Given the description of an element on the screen output the (x, y) to click on. 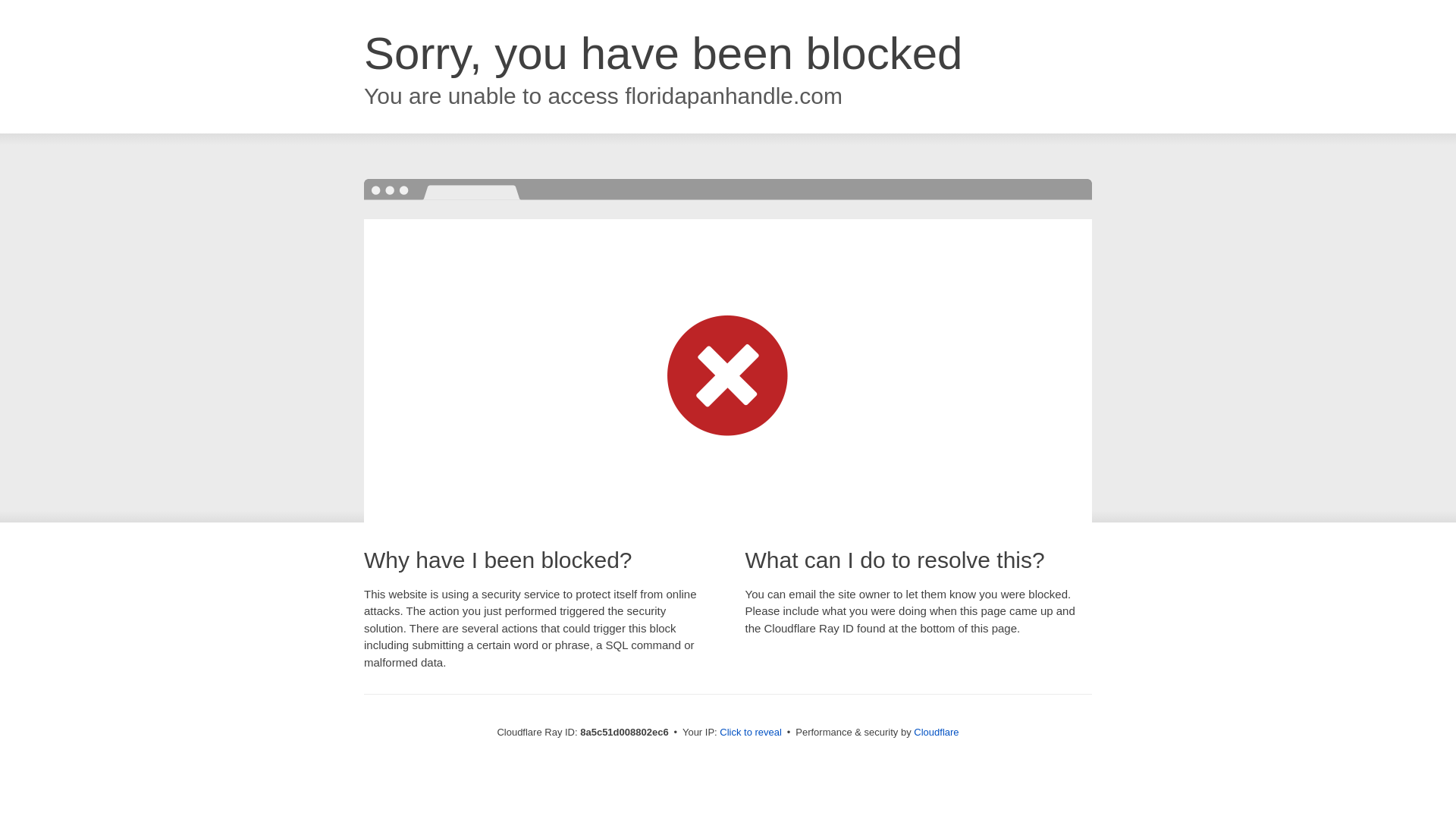
Click to reveal (750, 732)
Cloudflare (936, 731)
